Given the description of an element on the screen output the (x, y) to click on. 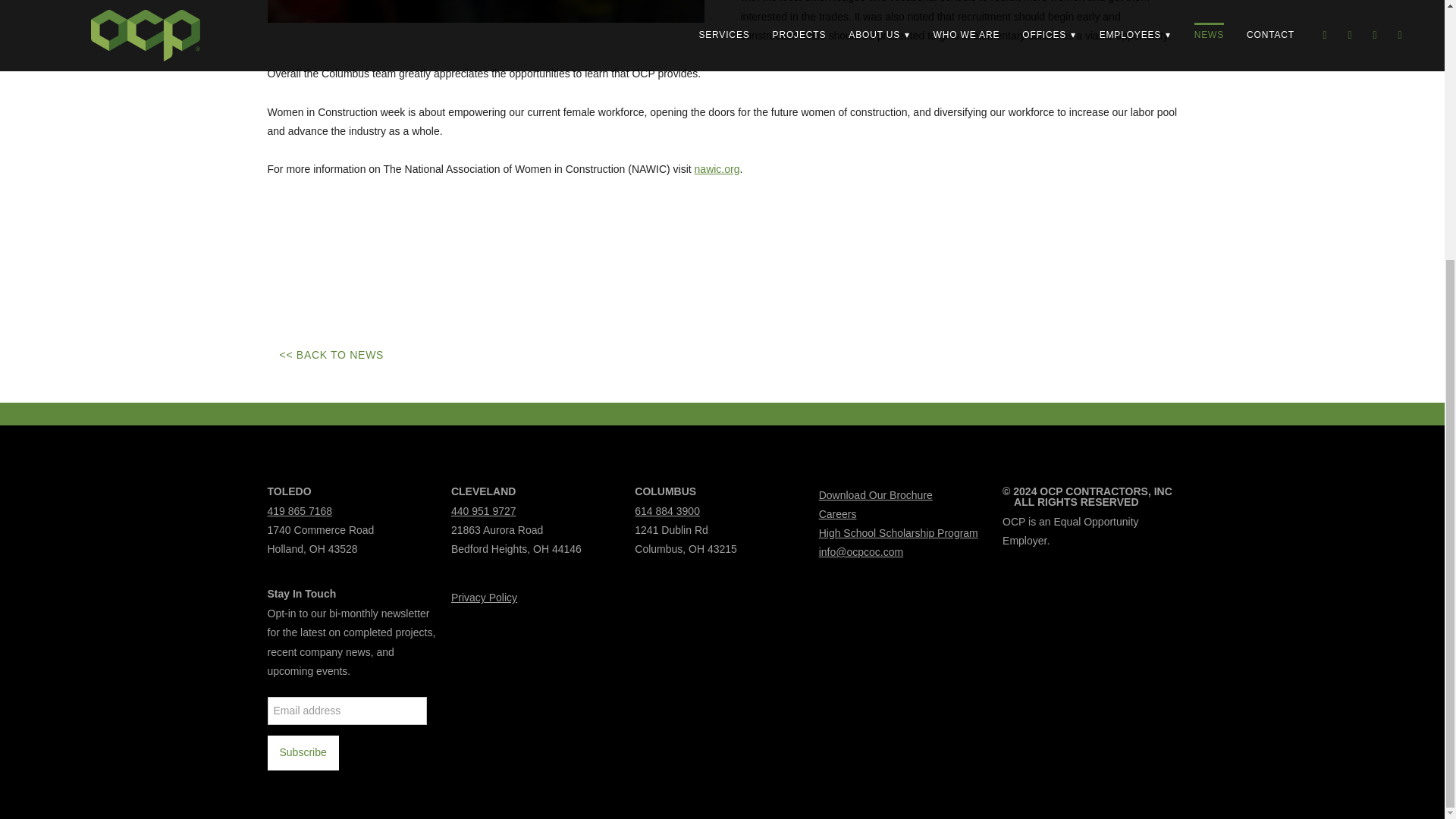
High School Scholarship Program (898, 532)
Privacy Policy  (483, 597)
Careers (837, 513)
Download Our Brochure (875, 494)
Privacy Policy (483, 597)
419 865 7168 (298, 510)
614 884 3900 (667, 510)
Subscribe (301, 752)
nawic.org (716, 168)
440 951 9727 (483, 510)
